Given the description of an element on the screen output the (x, y) to click on. 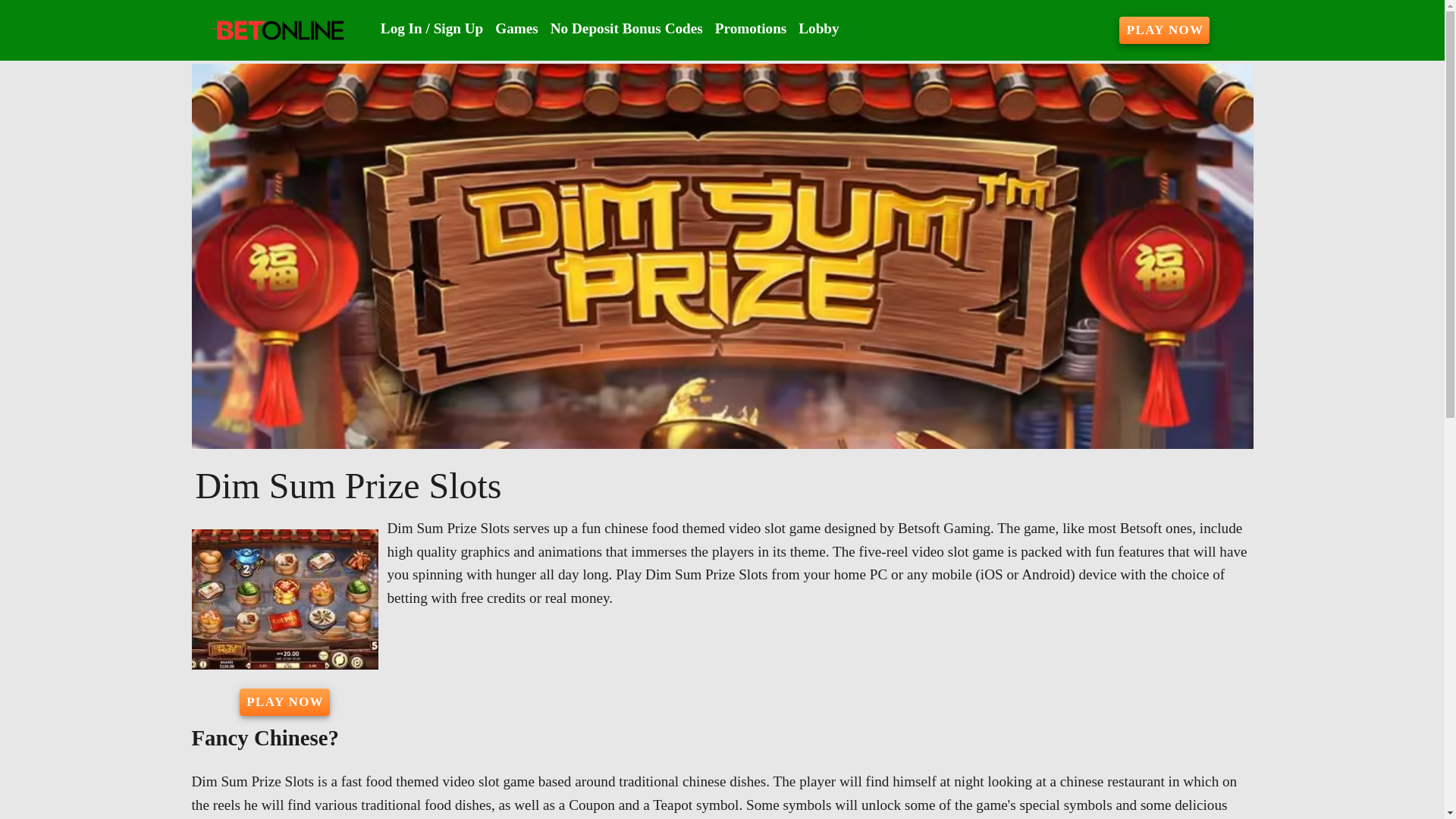
Lobby (818, 28)
Promotions (751, 28)
No Deposit Bonus Codes (626, 28)
PLAY NOW (285, 701)
Games (516, 28)
PLAY NOW (1164, 30)
